Given the description of an element on the screen output the (x, y) to click on. 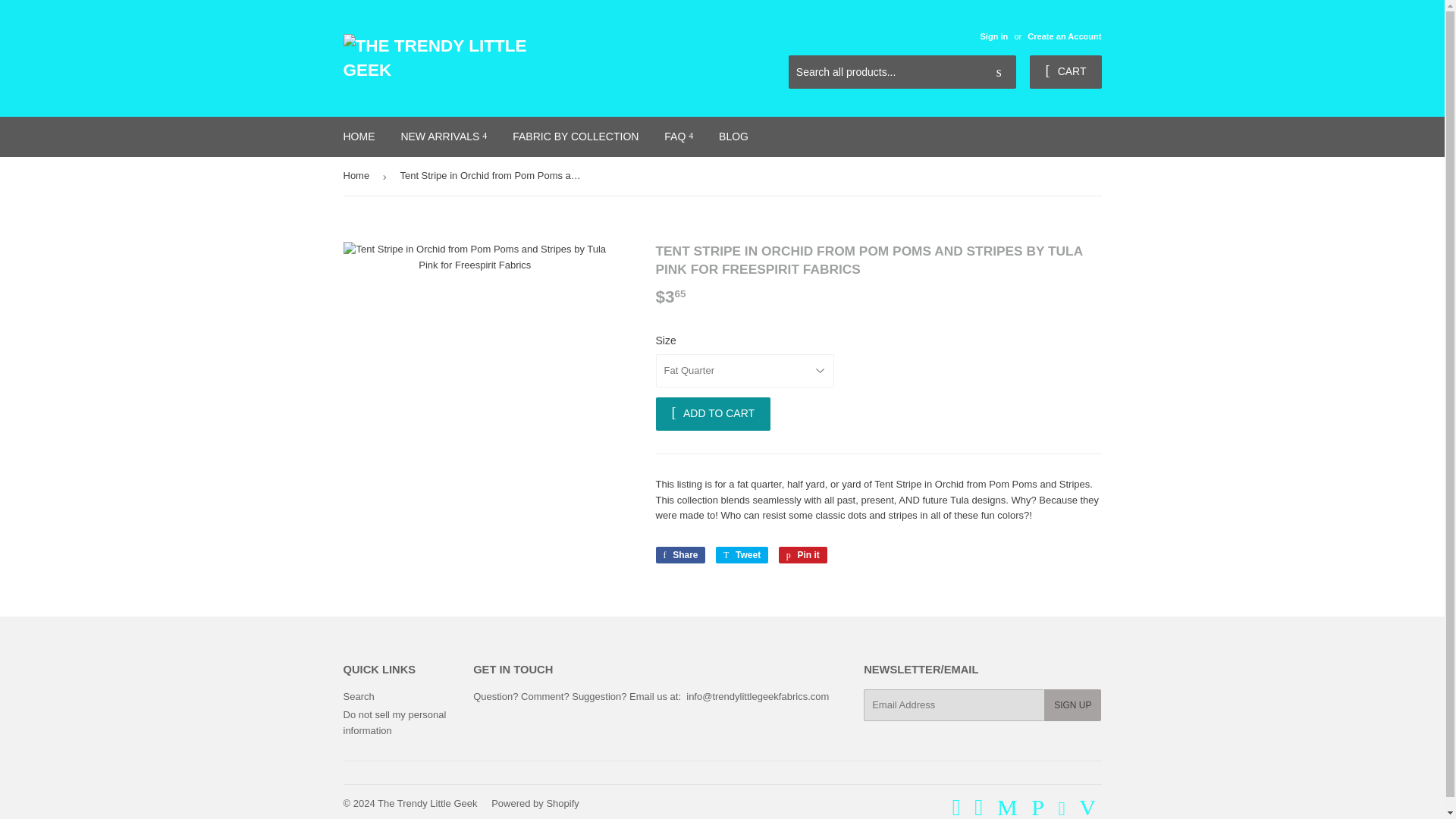
Share on Facebook (679, 555)
BLOG (733, 136)
Pin on Pinterest (802, 555)
Tweet on Twitter (742, 555)
FAQ (678, 136)
HOME (359, 136)
Sign in (993, 35)
Search (998, 72)
NEW ARRIVALS (442, 136)
FABRIC BY COLLECTION (574, 136)
